Given the description of an element on the screen output the (x, y) to click on. 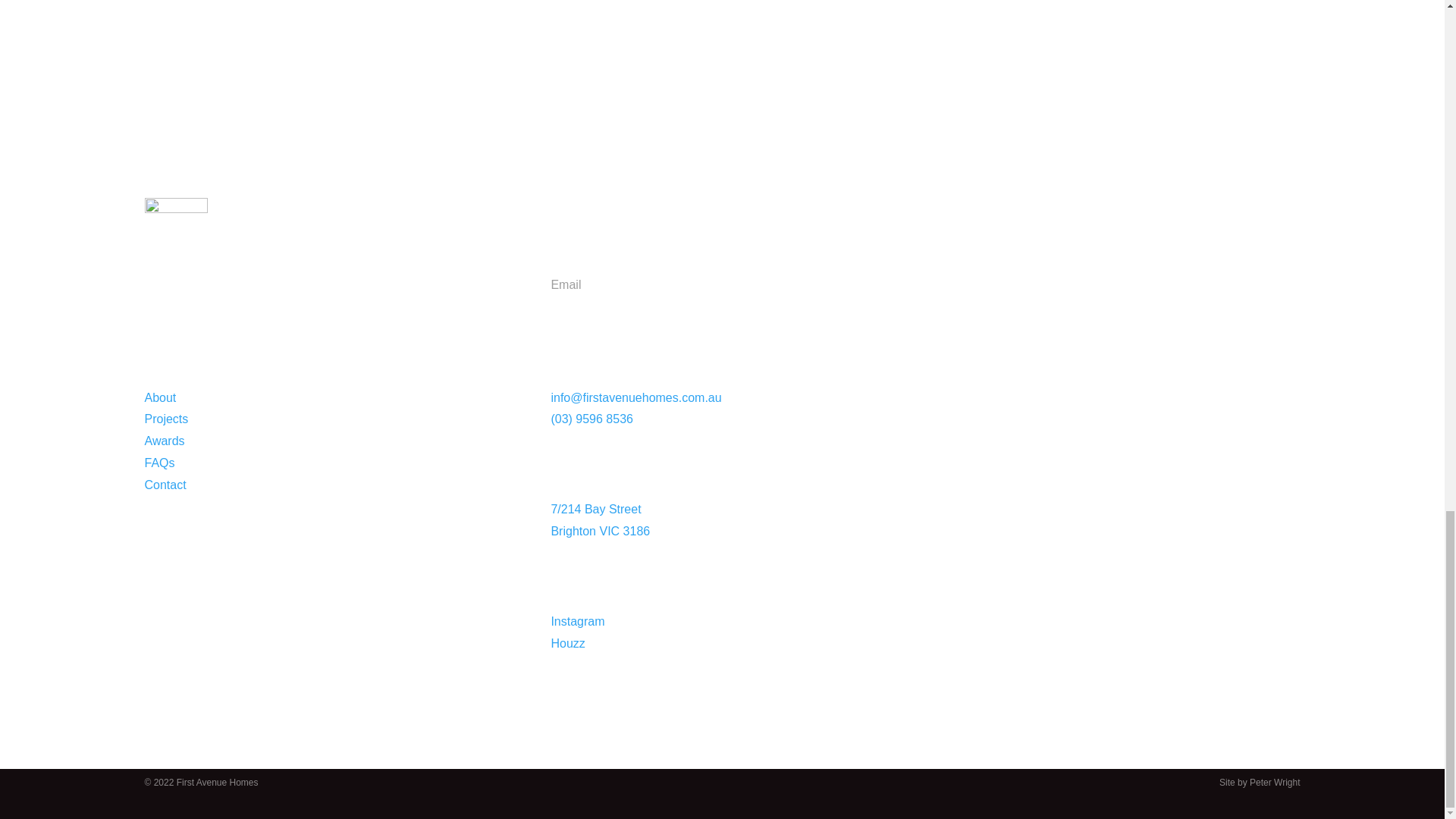
About (160, 397)
Peter Wright (1274, 782)
Awards (164, 440)
Contact (165, 484)
Houzz (567, 643)
Instagram (577, 621)
Projects (165, 418)
FAQs (159, 462)
